Given the description of an element on the screen output the (x, y) to click on. 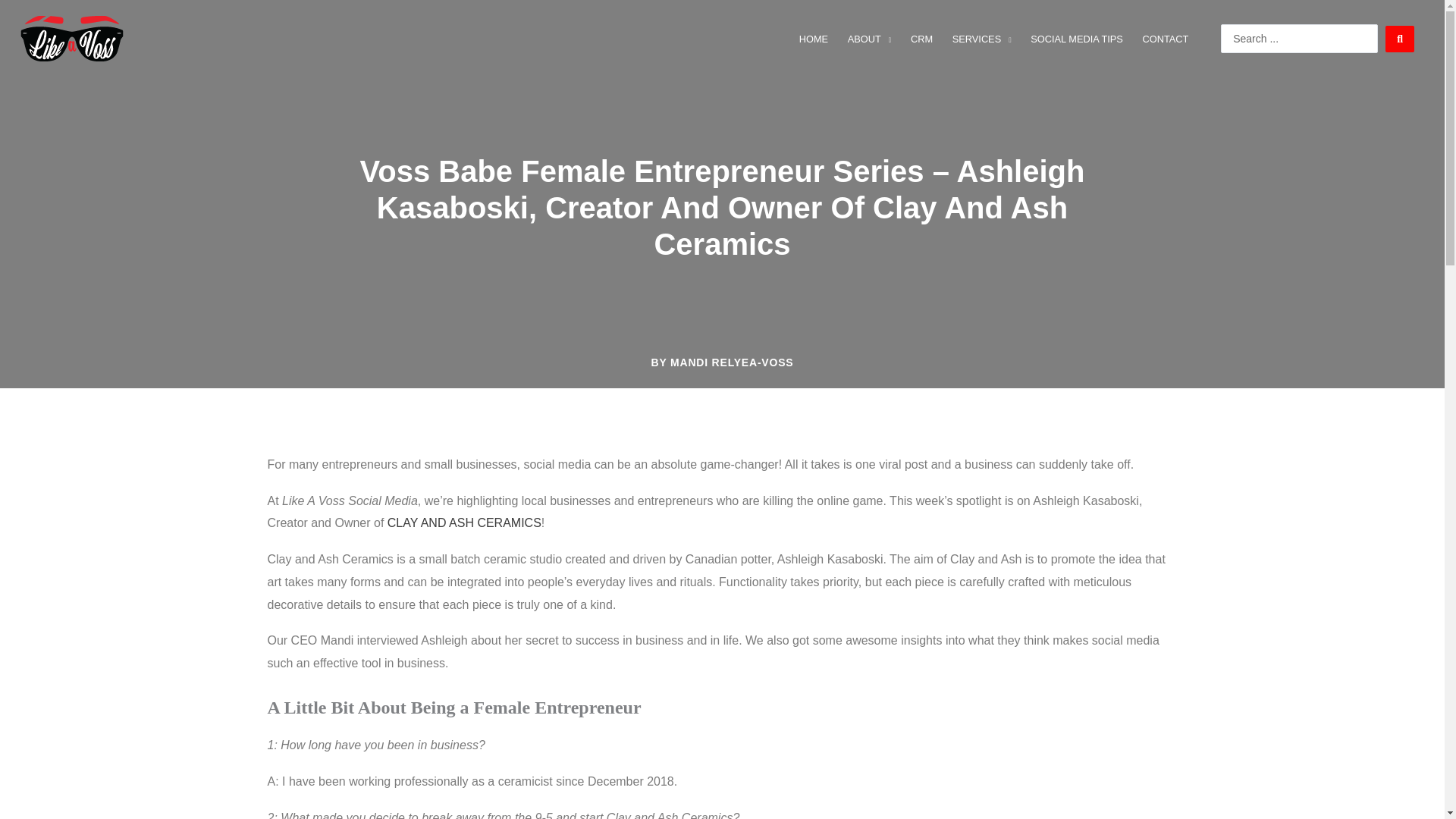
SERVICES (982, 40)
CONTACT (1165, 40)
HOME (813, 40)
ABOUT (869, 40)
CRM (921, 40)
SOCIAL MEDIA TIPS (1076, 40)
